Given the description of an element on the screen output the (x, y) to click on. 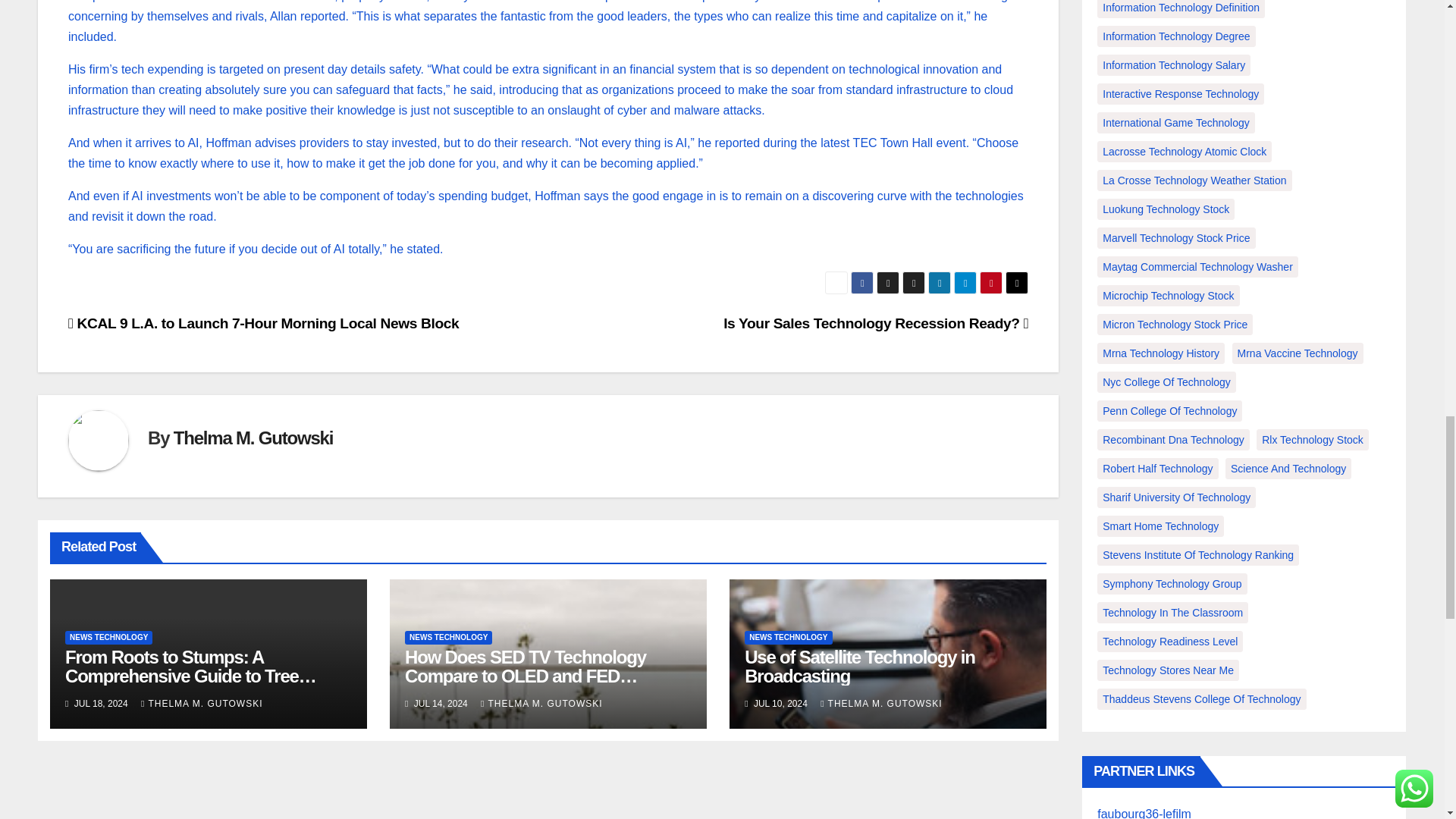
Permalink to: Use of Satellite Technology in Broadcasting (859, 666)
